Given the description of an element on the screen output the (x, y) to click on. 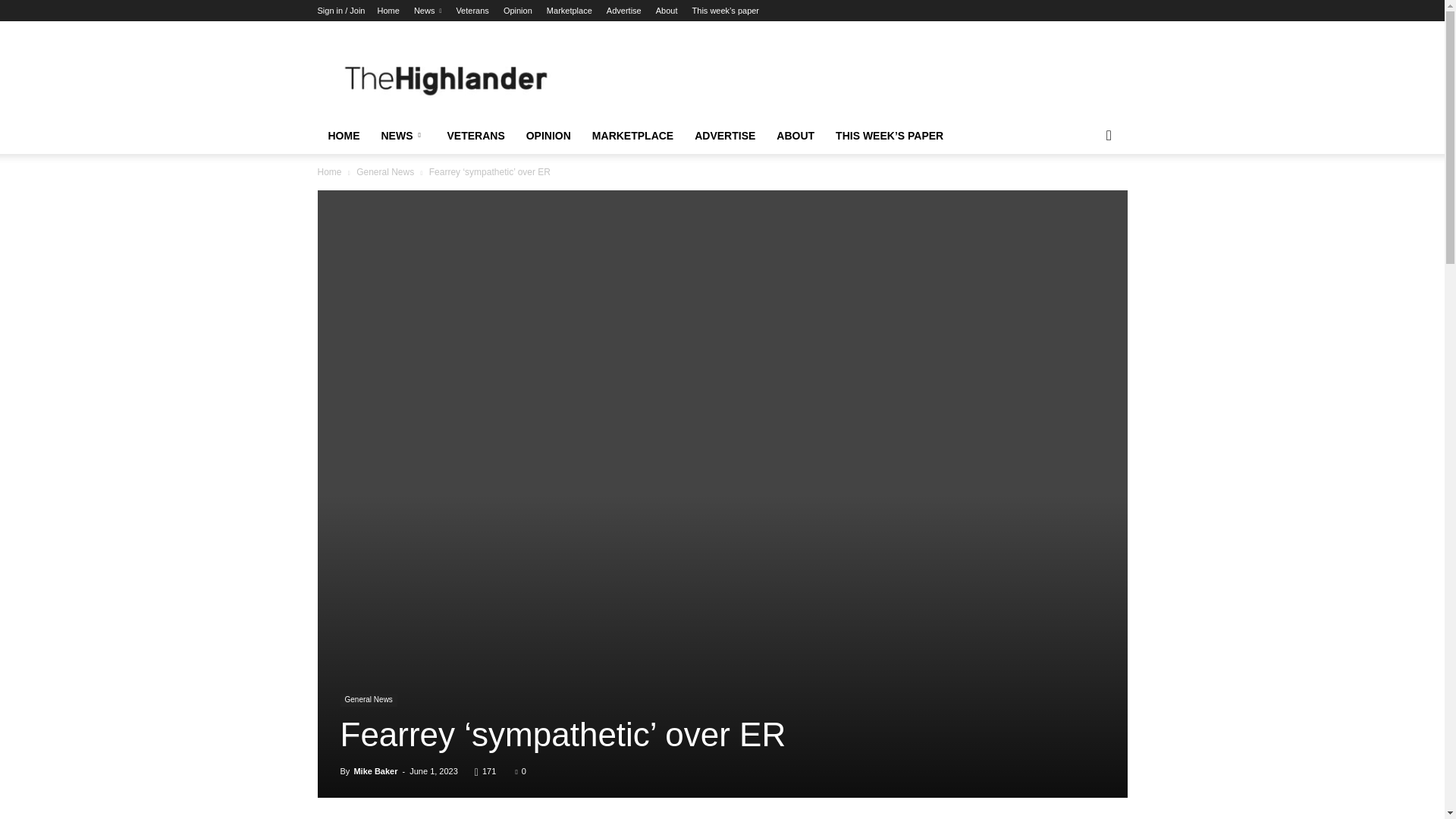
News (427, 10)
About (667, 10)
Advertise (624, 10)
Veterans (471, 10)
View all posts in General News (384, 172)
NEWS (402, 135)
Marketplace (569, 10)
HOME (343, 135)
Opinion (517, 10)
Home (387, 10)
